Given the description of an element on the screen output the (x, y) to click on. 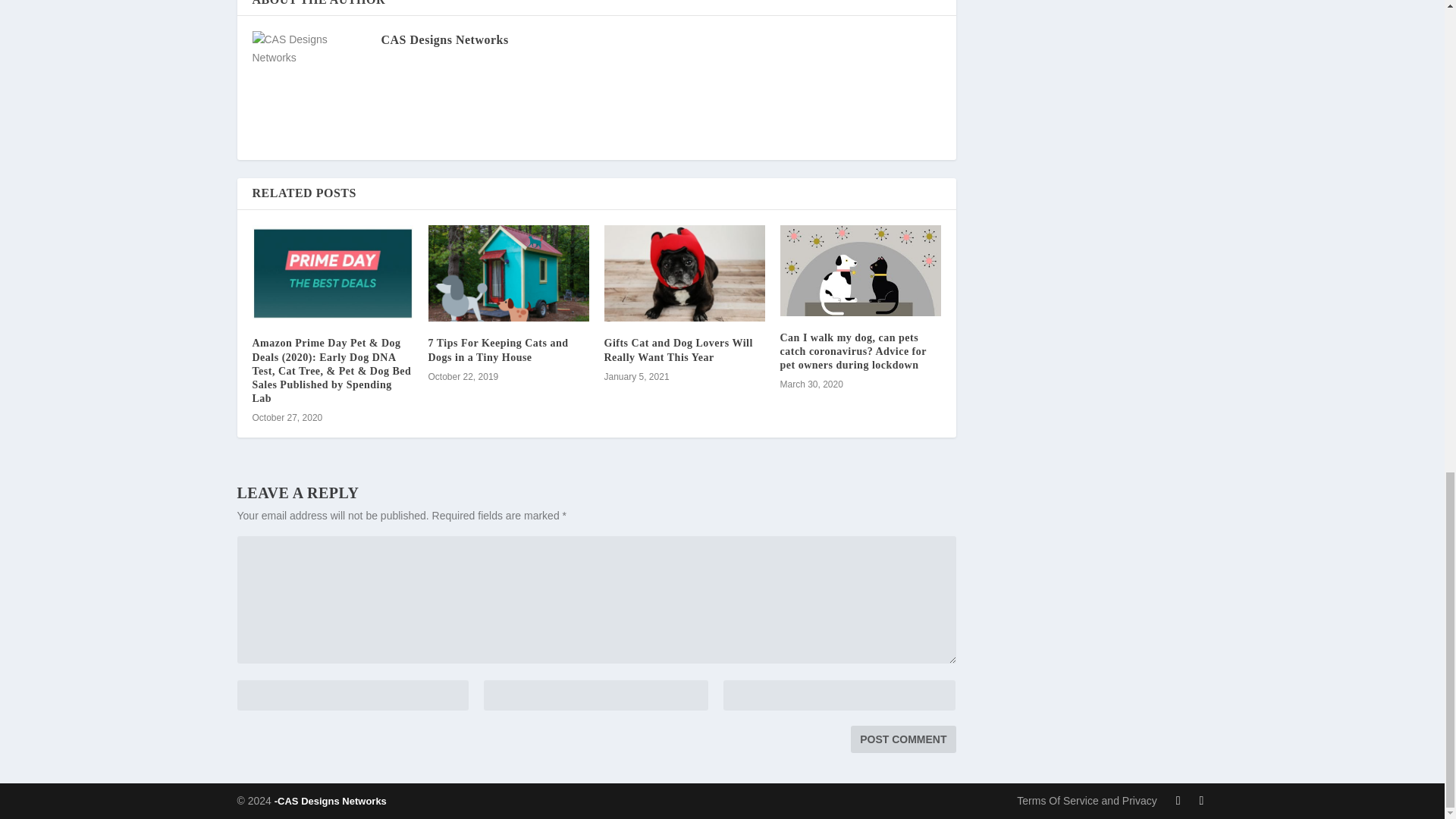
Post Comment (902, 738)
CAS Designs Networks (444, 39)
7 Tips For Keeping Cats and Dogs in a Tiny House (497, 349)
